Given the description of an element on the screen output the (x, y) to click on. 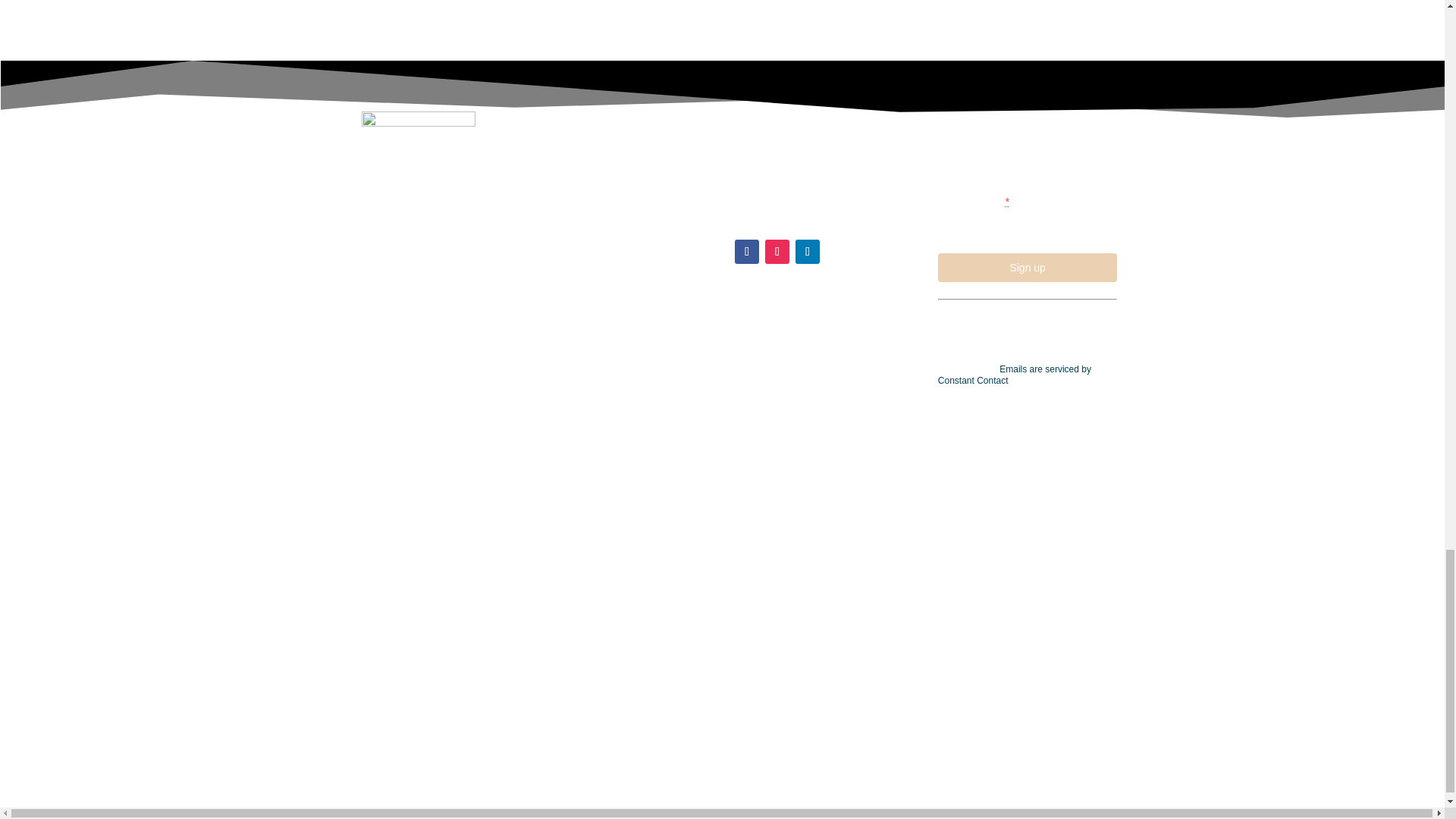
Follow on Instagram (777, 251)
Follow on Facebook (746, 251)
Contact Us (756, 138)
Follow on LinkedIn (806, 251)
Sign up (1027, 267)
